Given the description of an element on the screen output the (x, y) to click on. 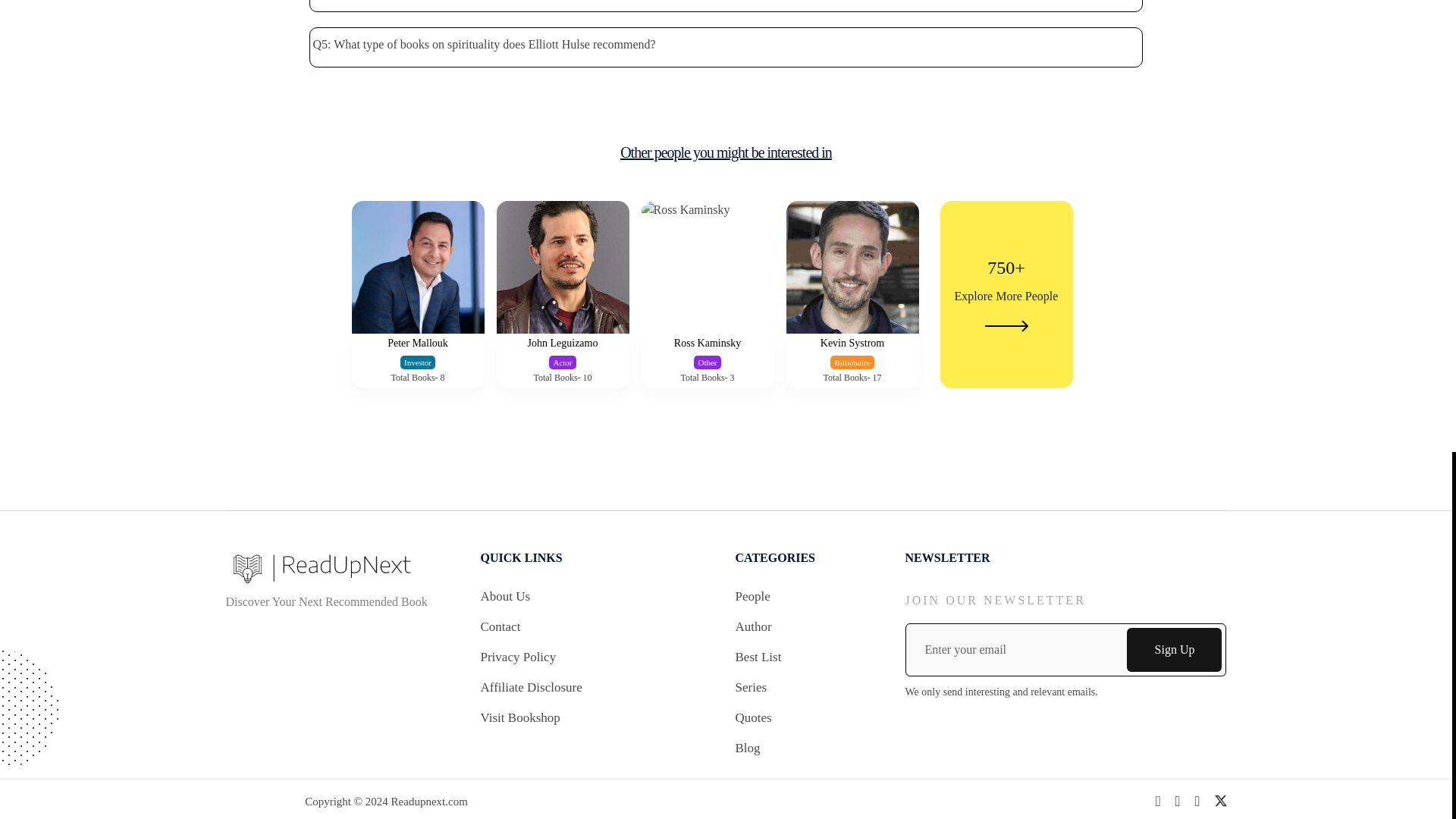
Privacy Policy (518, 657)
Series (751, 687)
Best List (758, 657)
Blog (747, 748)
About Us (505, 596)
Quotes (753, 717)
Affiliate Disclosure (418, 309)
Visit Bookshop (708, 309)
Author (531, 687)
Contact (520, 717)
Sign Up (753, 626)
